Given the description of an element on the screen output the (x, y) to click on. 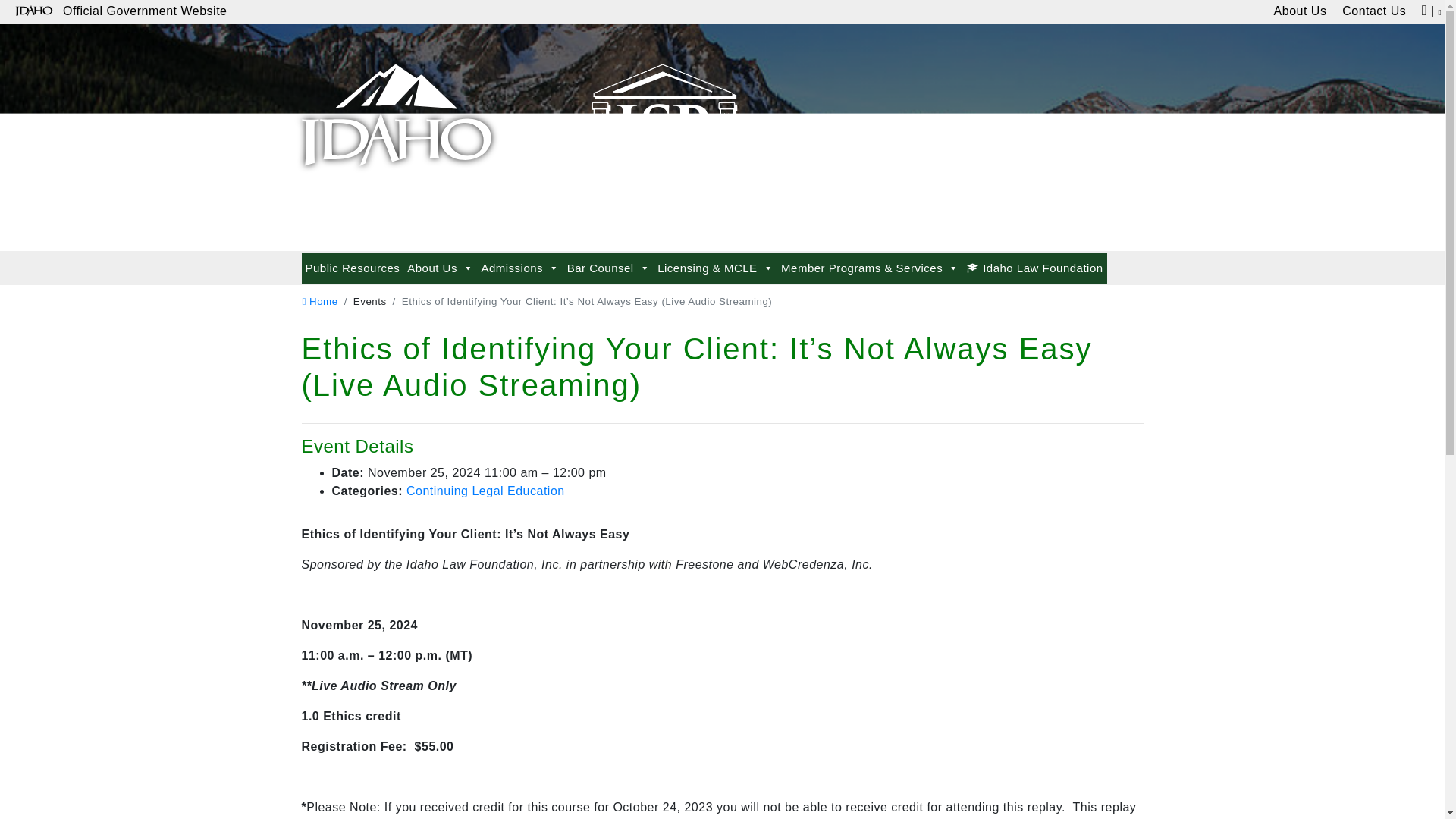
home (319, 301)
About Us (1300, 12)
Public Resources (352, 268)
Contact Us (1374, 12)
Bar Counsel (608, 268)
State Bar (396, 107)
About Us (440, 268)
Admissions (519, 268)
